Given the description of an element on the screen output the (x, y) to click on. 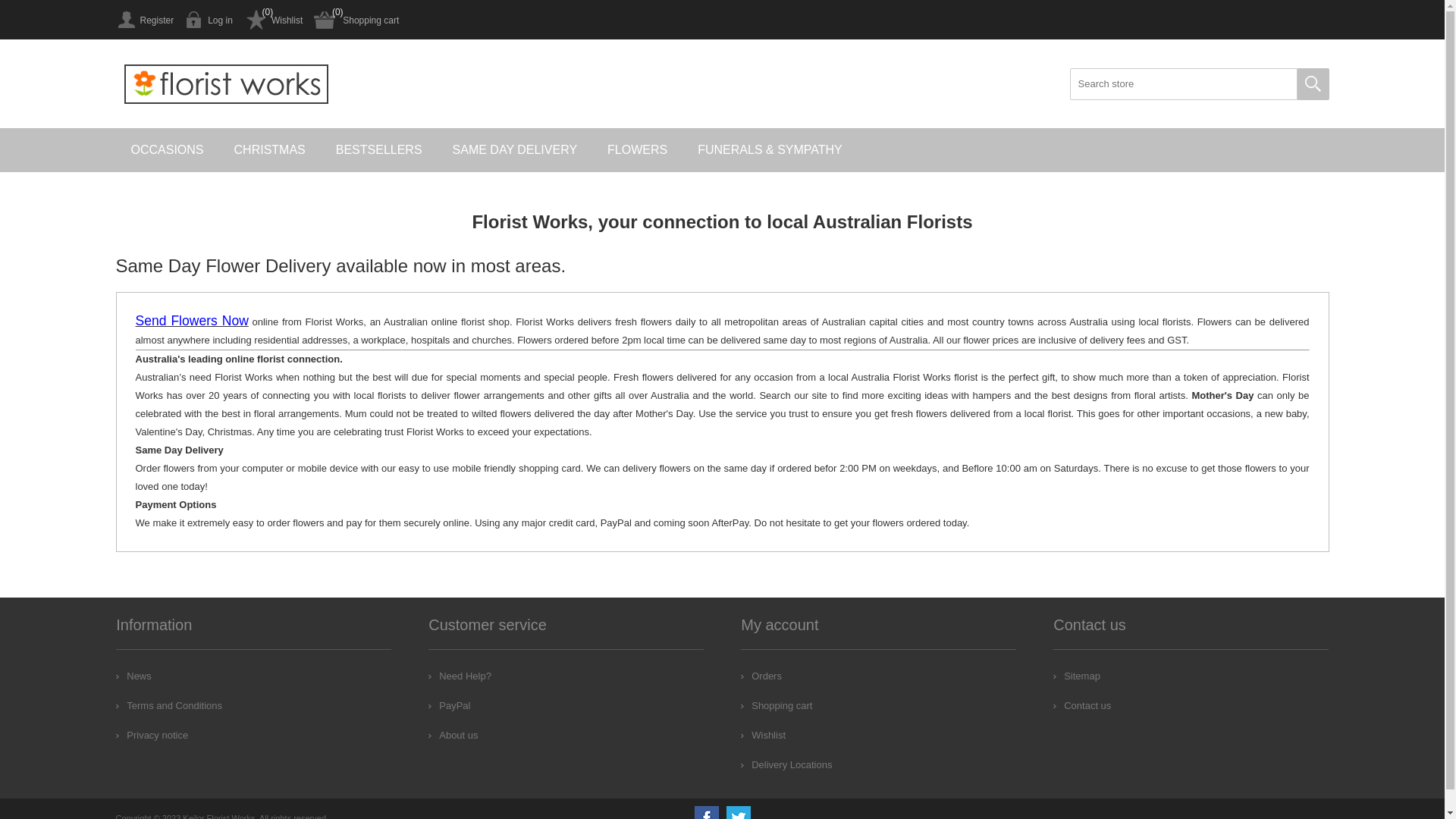
Register Element type: text (144, 19)
Need Help? Element type: text (459, 675)
Contact us Element type: text (1081, 705)
Wishlist Element type: text (762, 734)
OCCASIONS Element type: text (166, 150)
News Element type: text (133, 675)
Wishlist Element type: text (273, 19)
Delivery Locations Element type: text (785, 764)
Terms and Conditions Element type: text (169, 705)
Log in Element type: text (208, 19)
FLOWERS Element type: text (637, 150)
About us Element type: text (452, 734)
SAME DAY DELIVERY Element type: text (515, 150)
Search Element type: text (1312, 84)
Orders Element type: text (760, 675)
Sitemap Element type: text (1076, 675)
Shopping cart Element type: text (776, 705)
CHRISTMAS Element type: text (269, 150)
FUNERALS & SYMPATHY Element type: text (769, 150)
PayPal Element type: text (449, 705)
Privacy notice Element type: text (152, 734)
Send Flowers Now Element type: text (190, 321)
Shopping cart Element type: text (355, 19)
BESTSELLERS Element type: text (378, 150)
